Given the description of an element on the screen output the (x, y) to click on. 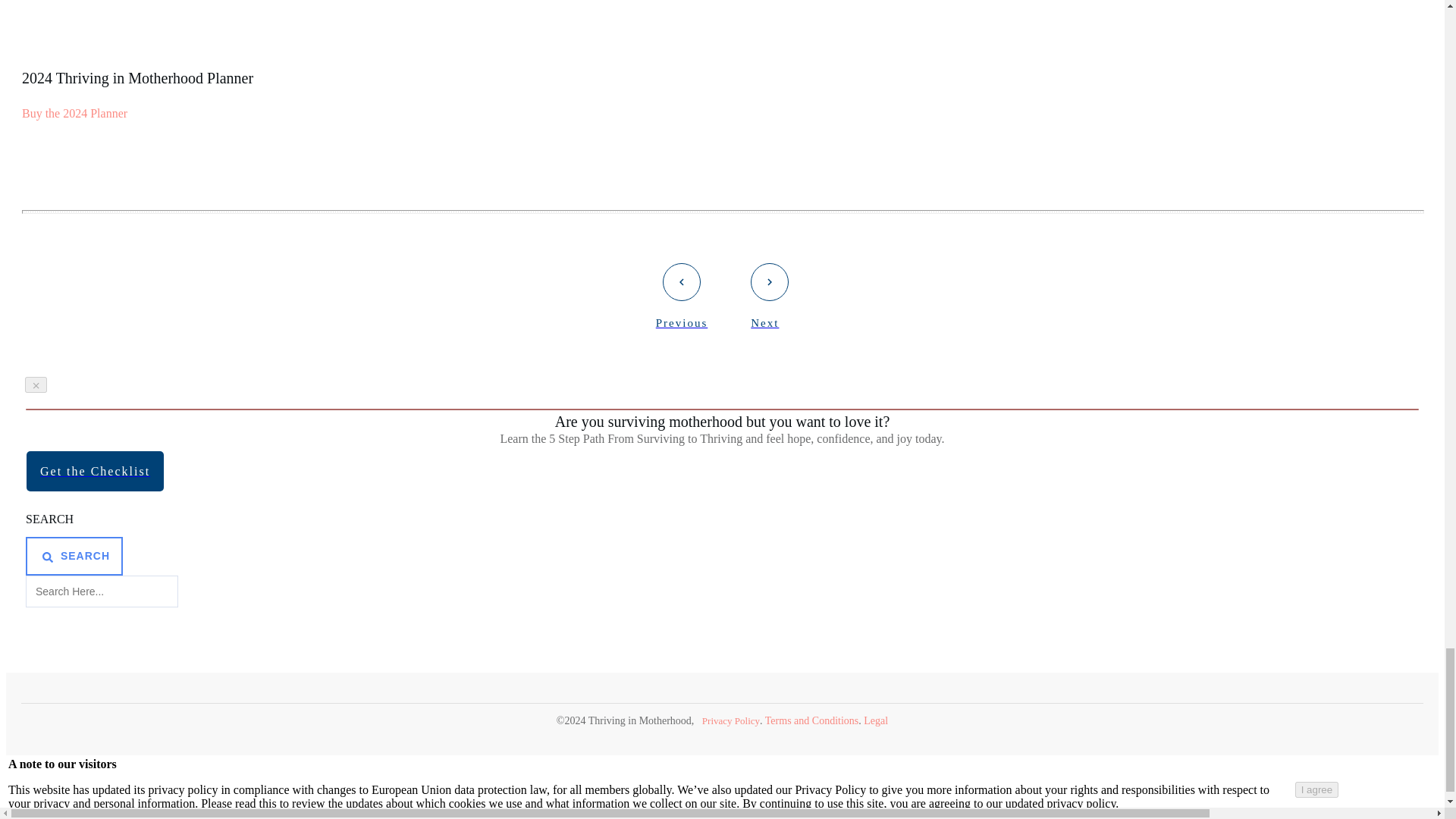
Legal (874, 720)
Previous (681, 295)
Next (770, 295)
Get the Checklist (94, 471)
Terms and Conditions (812, 720)
Buy the 2024 Planner (74, 113)
SEARCH (74, 555)
Privacy Policy (730, 720)
I agree (1317, 789)
